Given the description of an element on the screen output the (x, y) to click on. 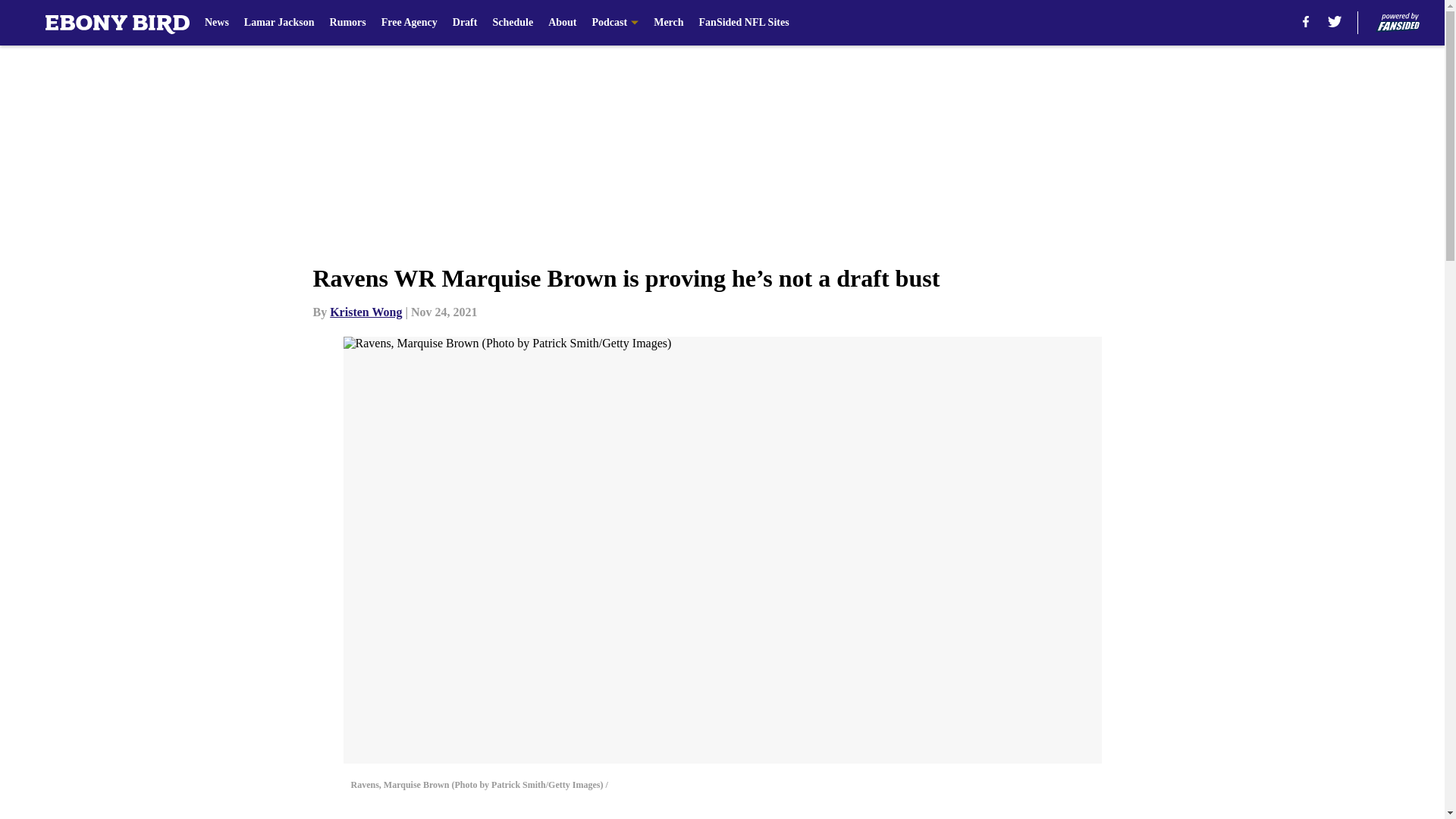
About (562, 22)
Schedule (512, 22)
Free Agency (409, 22)
News (216, 22)
Kristen Wong (365, 311)
FanSided NFL Sites (743, 22)
Merch (667, 22)
Rumors (348, 22)
Lamar Jackson (279, 22)
Draft (464, 22)
